Given the description of an element on the screen output the (x, y) to click on. 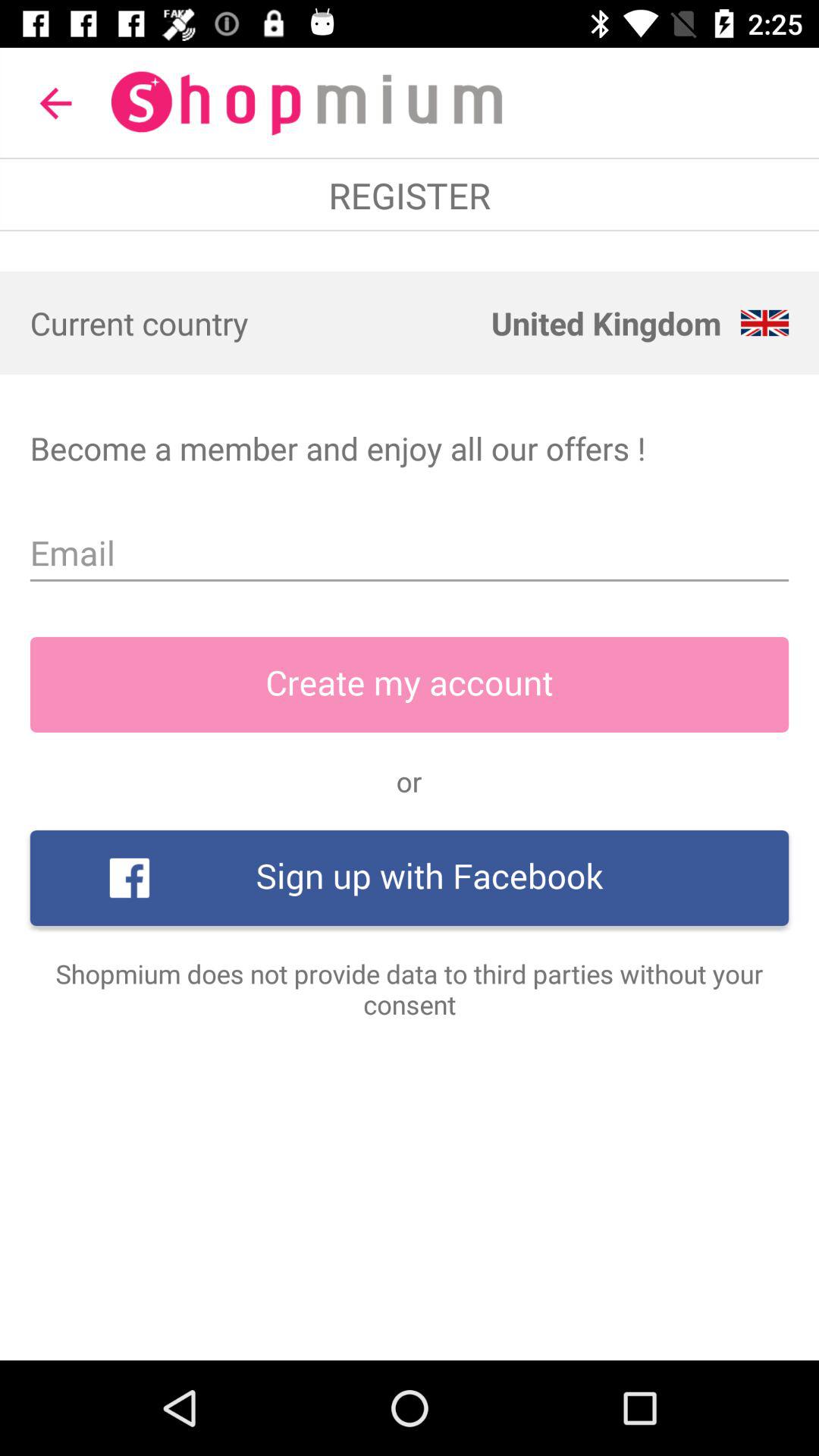
tap item below the become a member item (409, 553)
